Given the description of an element on the screen output the (x, y) to click on. 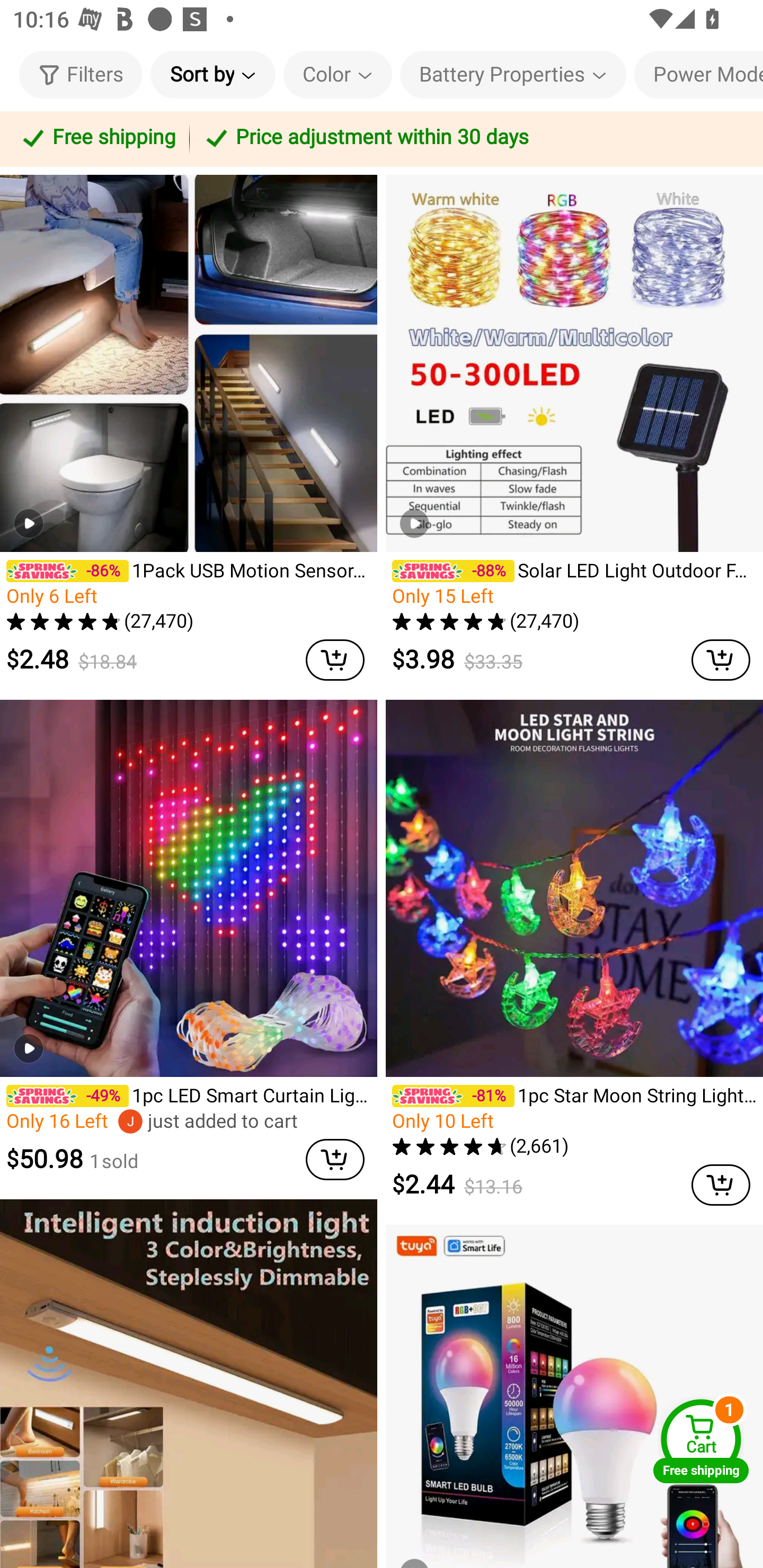
Filters (80, 74)
Sort by (212, 74)
Color (337, 74)
Battery Properties (512, 74)
Free shipping (97, 138)
Price adjustment within 30 days (472, 138)
cart delete (334, 659)
cart delete (720, 659)
cart delete (334, 1159)
cart delete (720, 1185)
Cart Free shipping Cart (701, 1440)
